Given the description of an element on the screen output the (x, y) to click on. 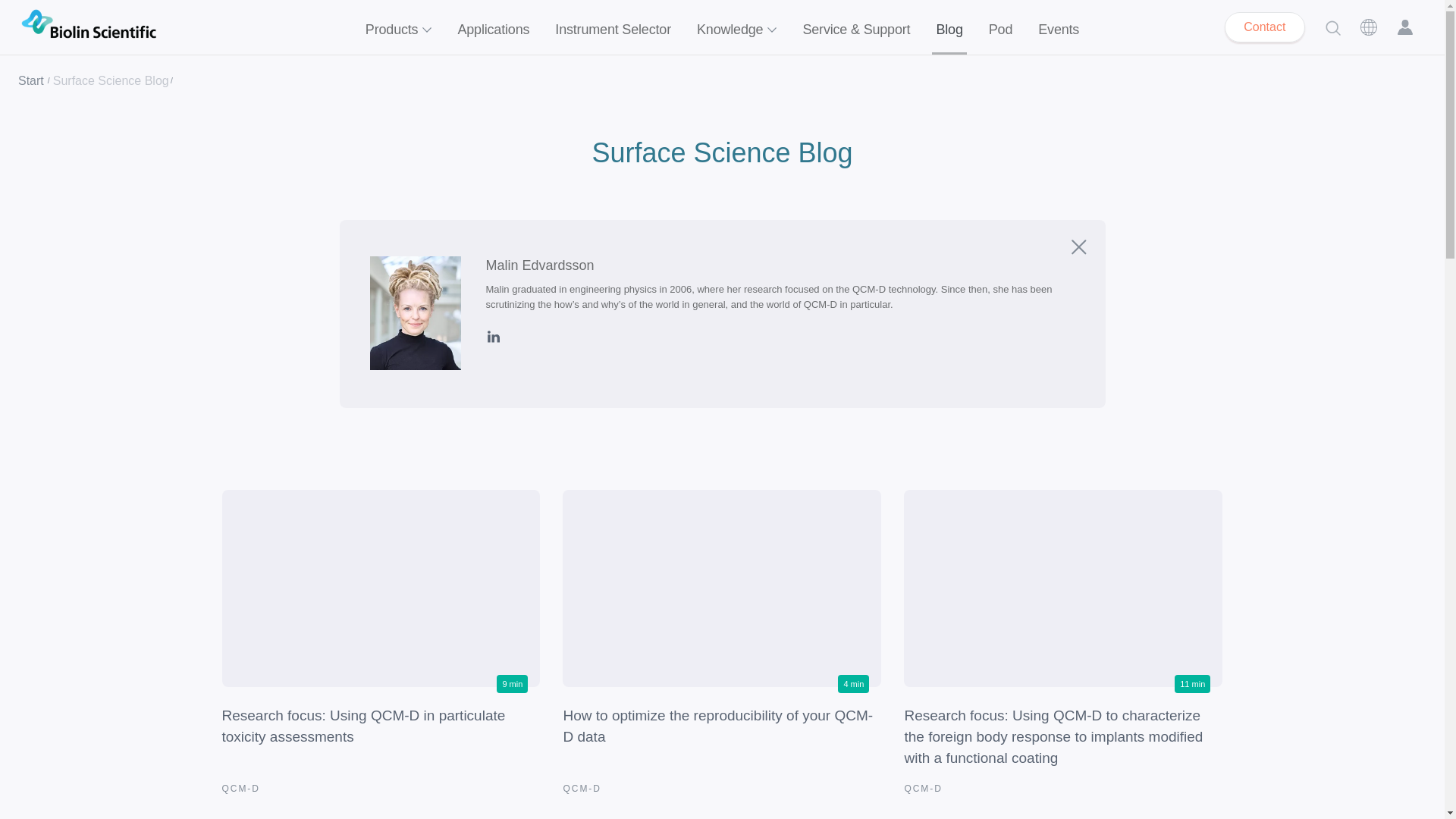
Surface Science Blog (721, 152)
Blog (949, 27)
Contact (1264, 27)
Events (1058, 27)
Pod (1000, 27)
Products (398, 27)
Start (31, 80)
Instrument Selector (612, 27)
QCM-D (240, 787)
